Given the description of an element on the screen output the (x, y) to click on. 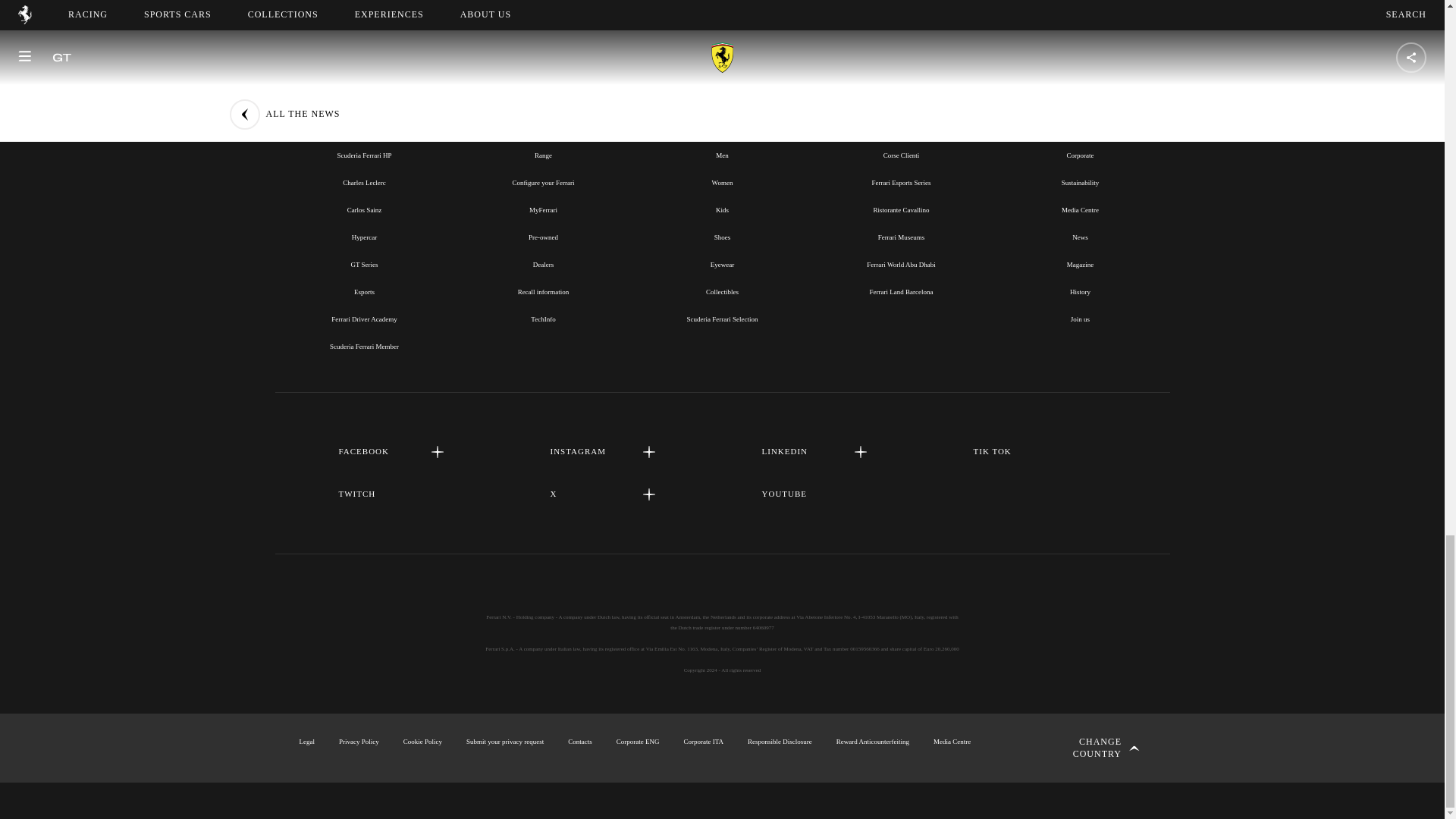
MyFerrari (543, 209)
Recall information (543, 291)
Dealers (542, 264)
Men (722, 154)
Scuderia Ferrari HP (363, 154)
Carlos Sainz (364, 209)
Charles Leclerc (363, 182)
COLLECTIONS (721, 120)
Esports (363, 291)
COLLECTIONS (721, 120)
Ferrari Driver Academy (363, 318)
TechInfo (542, 318)
SUBSCRIBE (721, 2)
Range (542, 154)
Hypercar (364, 236)
